Given the description of an element on the screen output the (x, y) to click on. 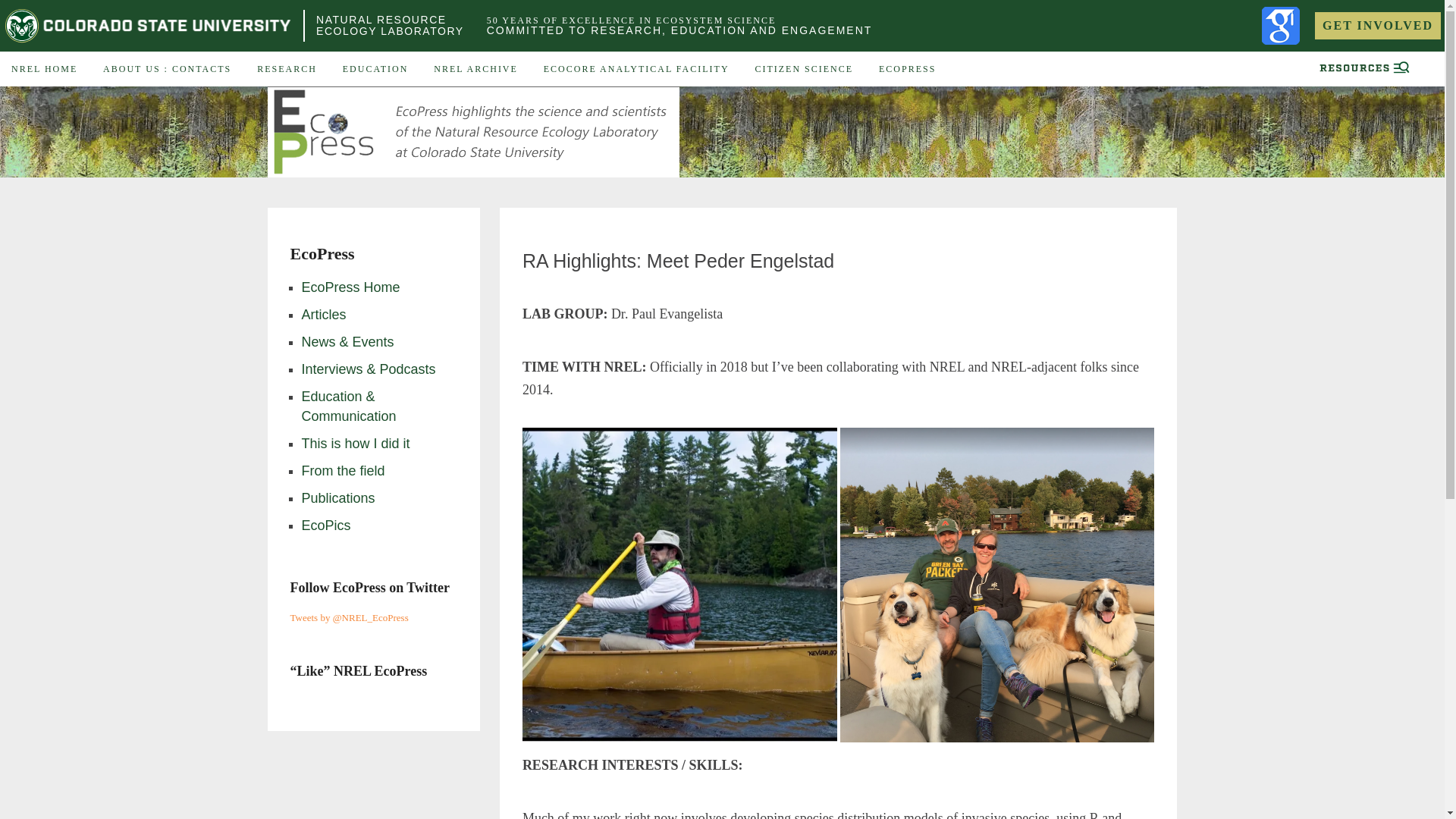
EDUCATION (375, 68)
COLORADO STATE UNIVERSITY (148, 25)
50 YEARS OF EXCELLENCE IN ECOSYSTEM SCIENCE (631, 20)
ABOUT US : CONTACTS (167, 68)
NREL HOME (44, 68)
NREL ARCHIVE (475, 68)
COMMITTED TO RESEARCH, EDUCATION AND ENGAGEMENT (679, 30)
ECOPRESS (907, 68)
CITIZEN SCIENCE (389, 24)
ECOCORE ANALYTICAL FACILITY (803, 68)
GET INVOLVED (636, 68)
RESEARCH (1377, 25)
